Given the description of an element on the screen output the (x, y) to click on. 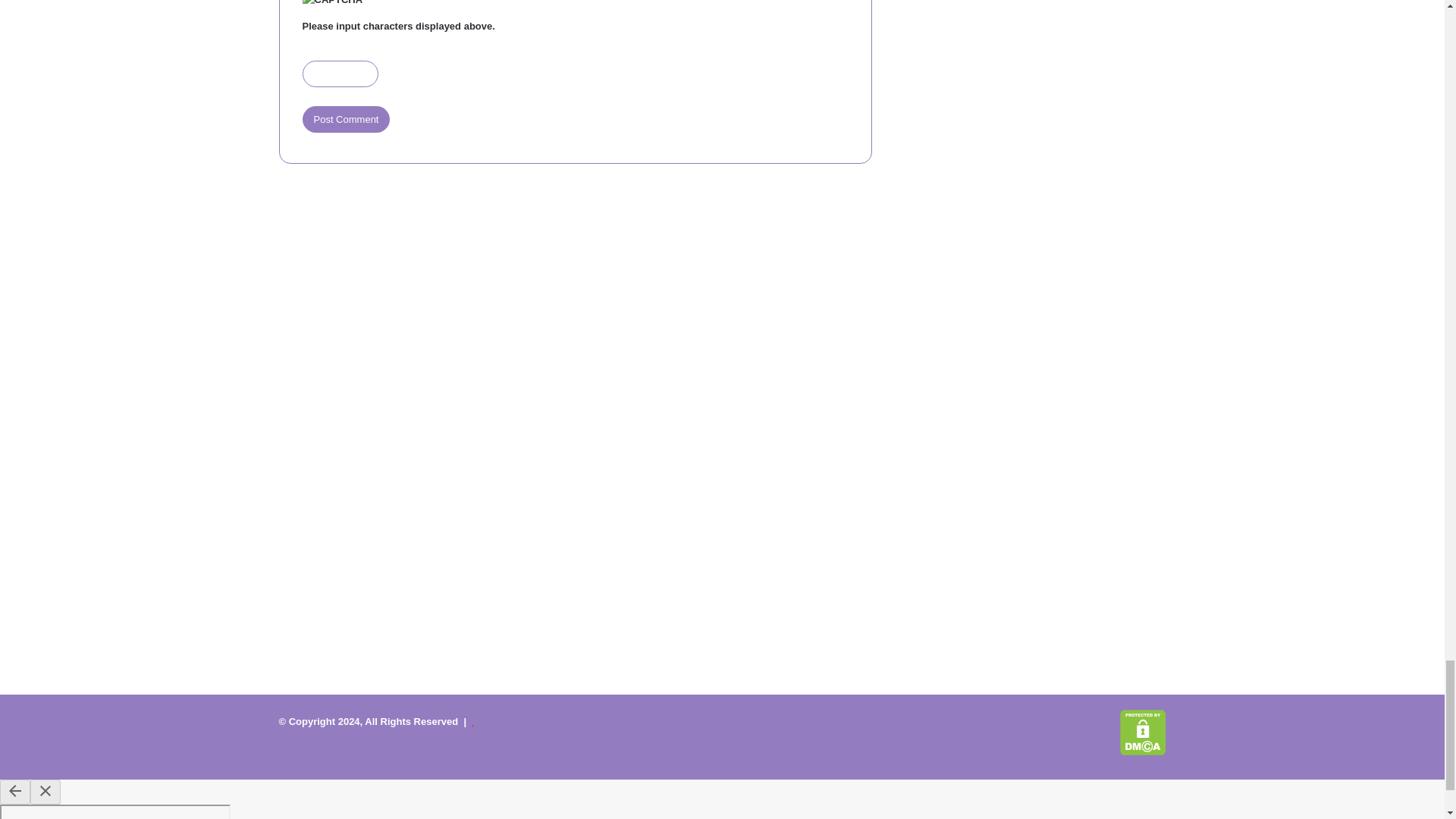
Post Comment (345, 119)
